Given the description of an element on the screen output the (x, y) to click on. 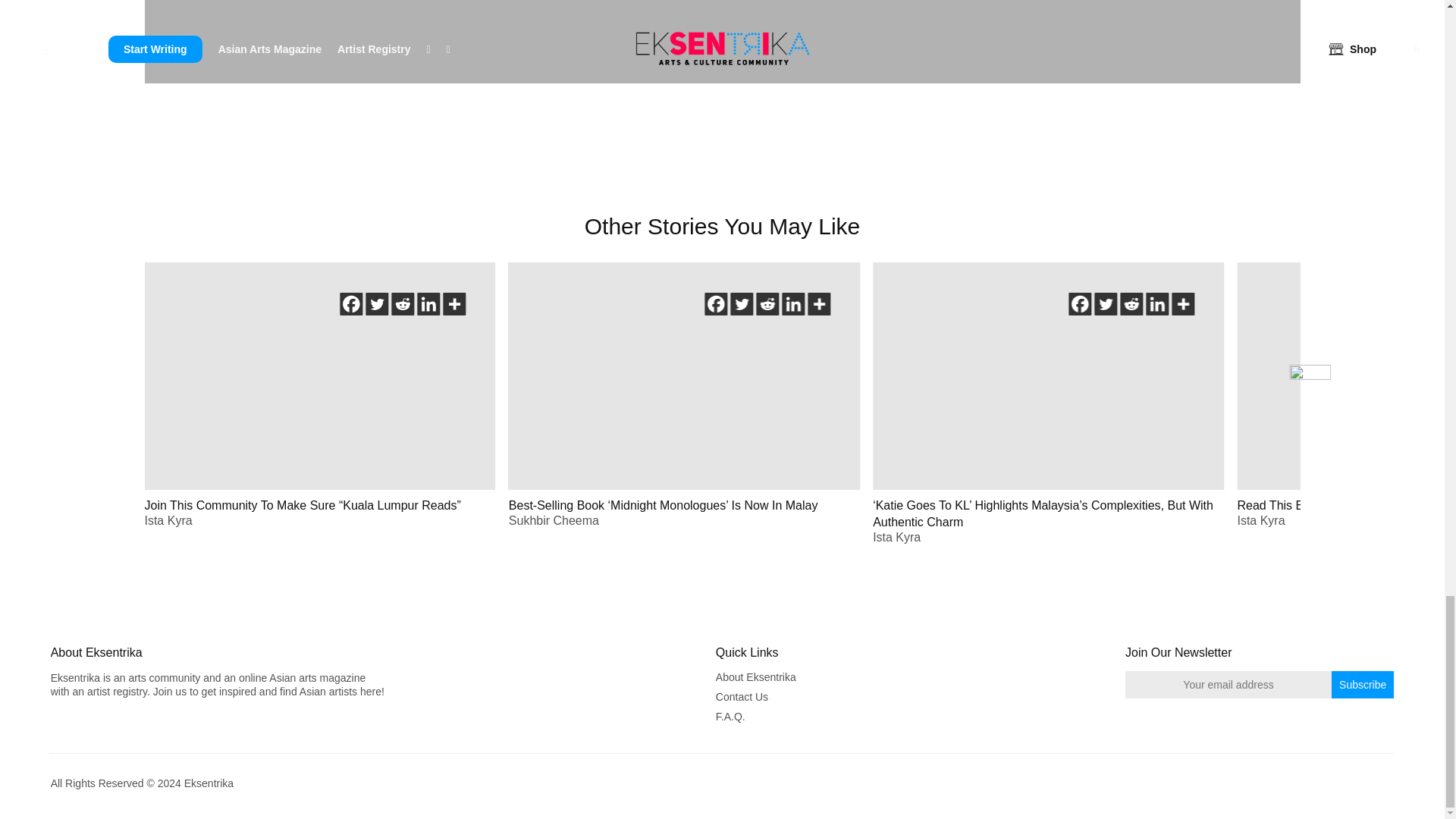
Subscribe (1362, 684)
